Given the description of an element on the screen output the (x, y) to click on. 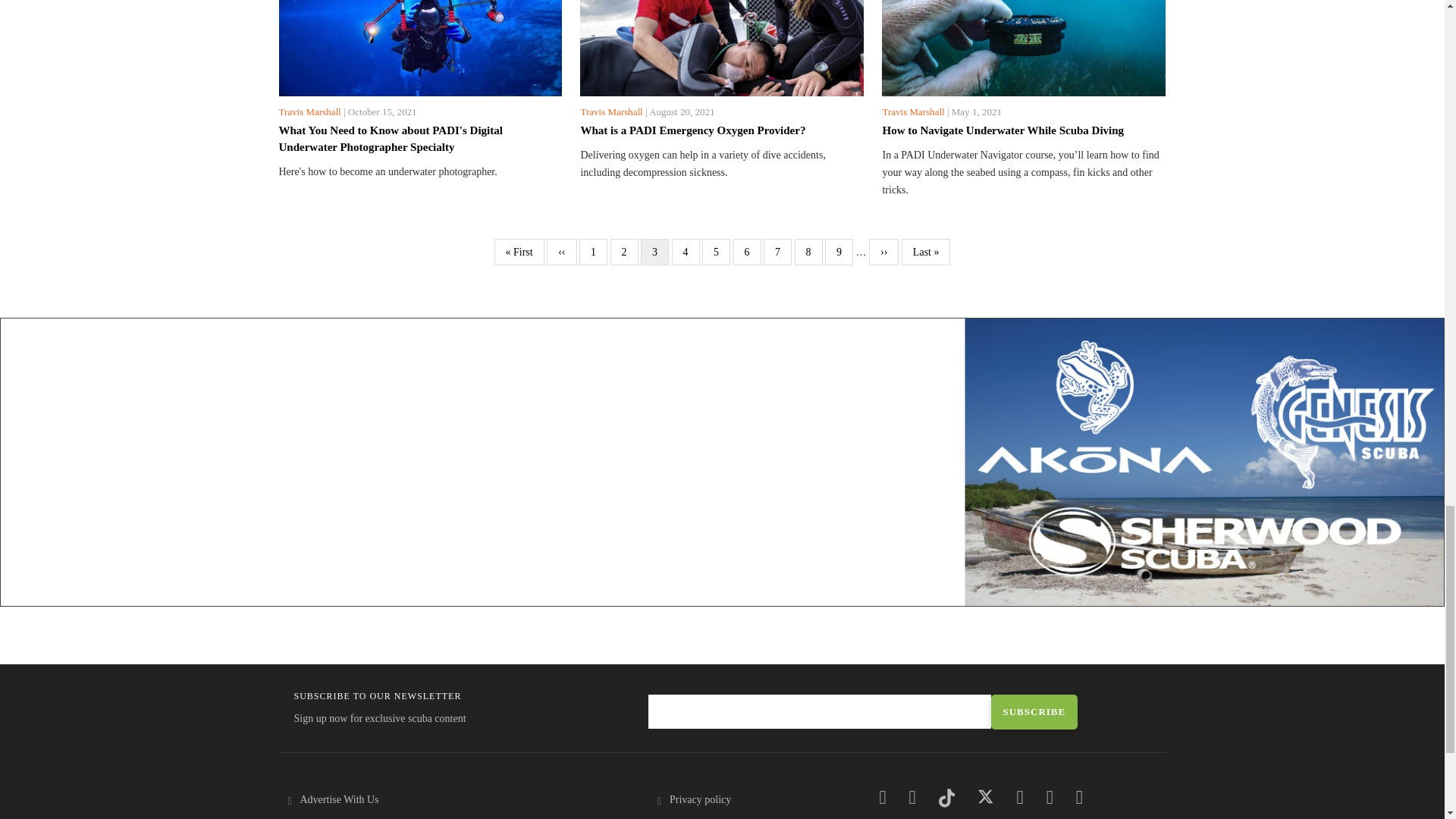
Go to page 5 (715, 252)
Go to first page (519, 252)
Go to page 7 (777, 252)
Current page (654, 252)
Go to page 2 (624, 252)
Go to page 1 (593, 252)
Go to page 4 (685, 252)
Go to next page (883, 252)
Subscribe (1033, 711)
Go to page 8 (808, 252)
Go to previous page (561, 252)
Go to page 6 (747, 252)
Go to last page (925, 252)
Go to page 9 (839, 252)
